Given the description of an element on the screen output the (x, y) to click on. 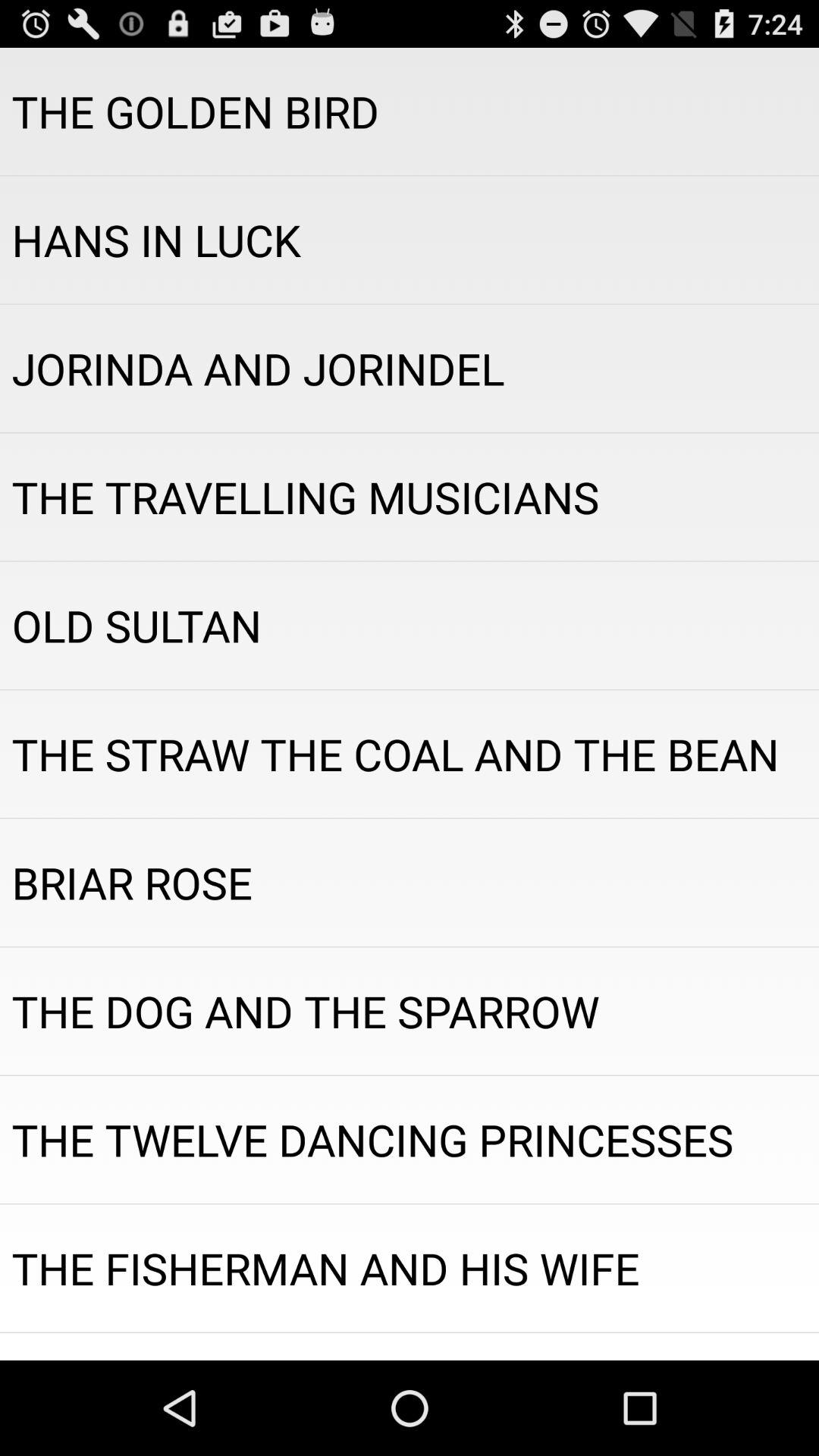
swipe until the travelling musicians icon (409, 496)
